Given the description of an element on the screen output the (x, y) to click on. 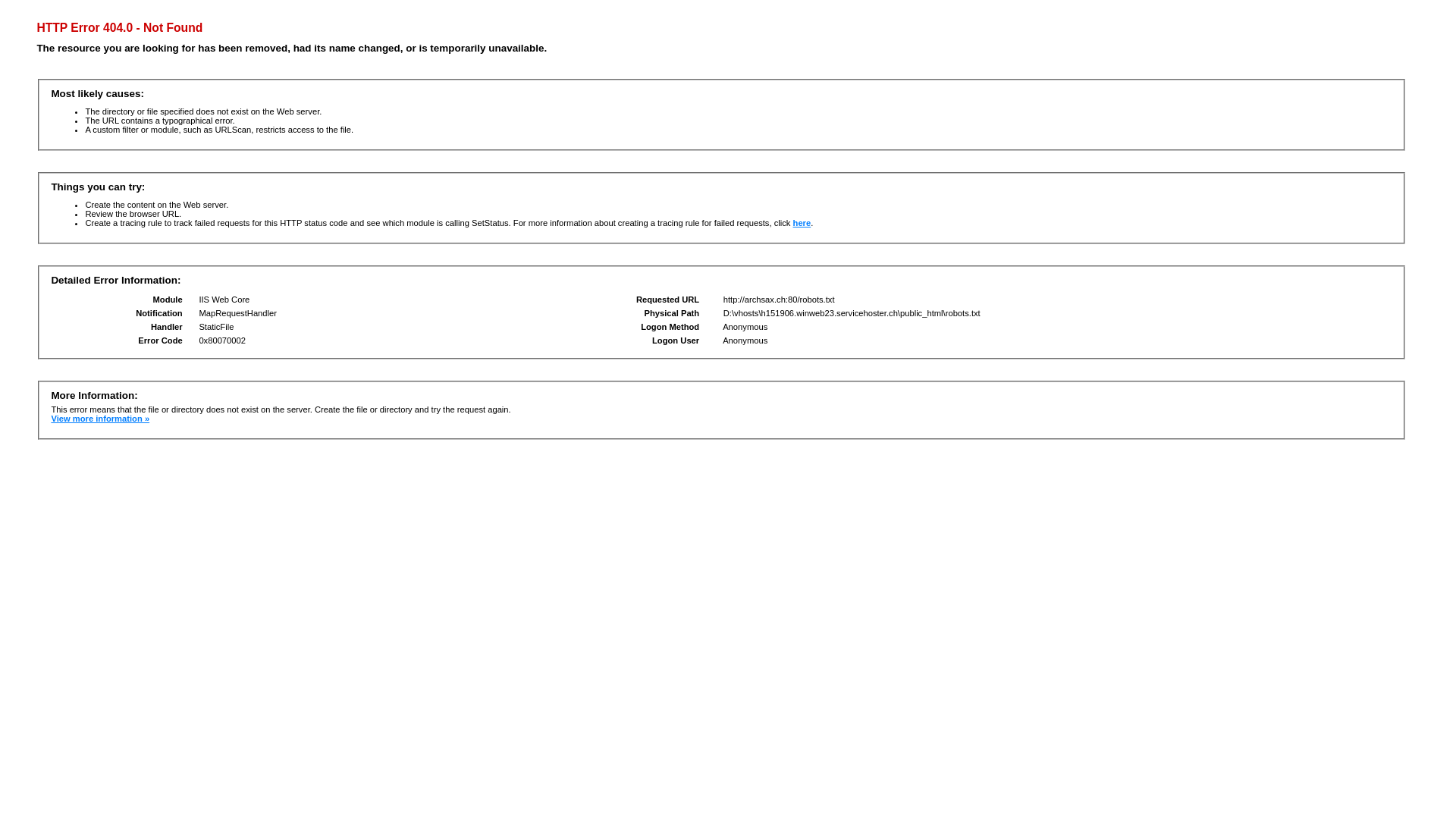
here Element type: text (802, 222)
